Given the description of an element on the screen output the (x, y) to click on. 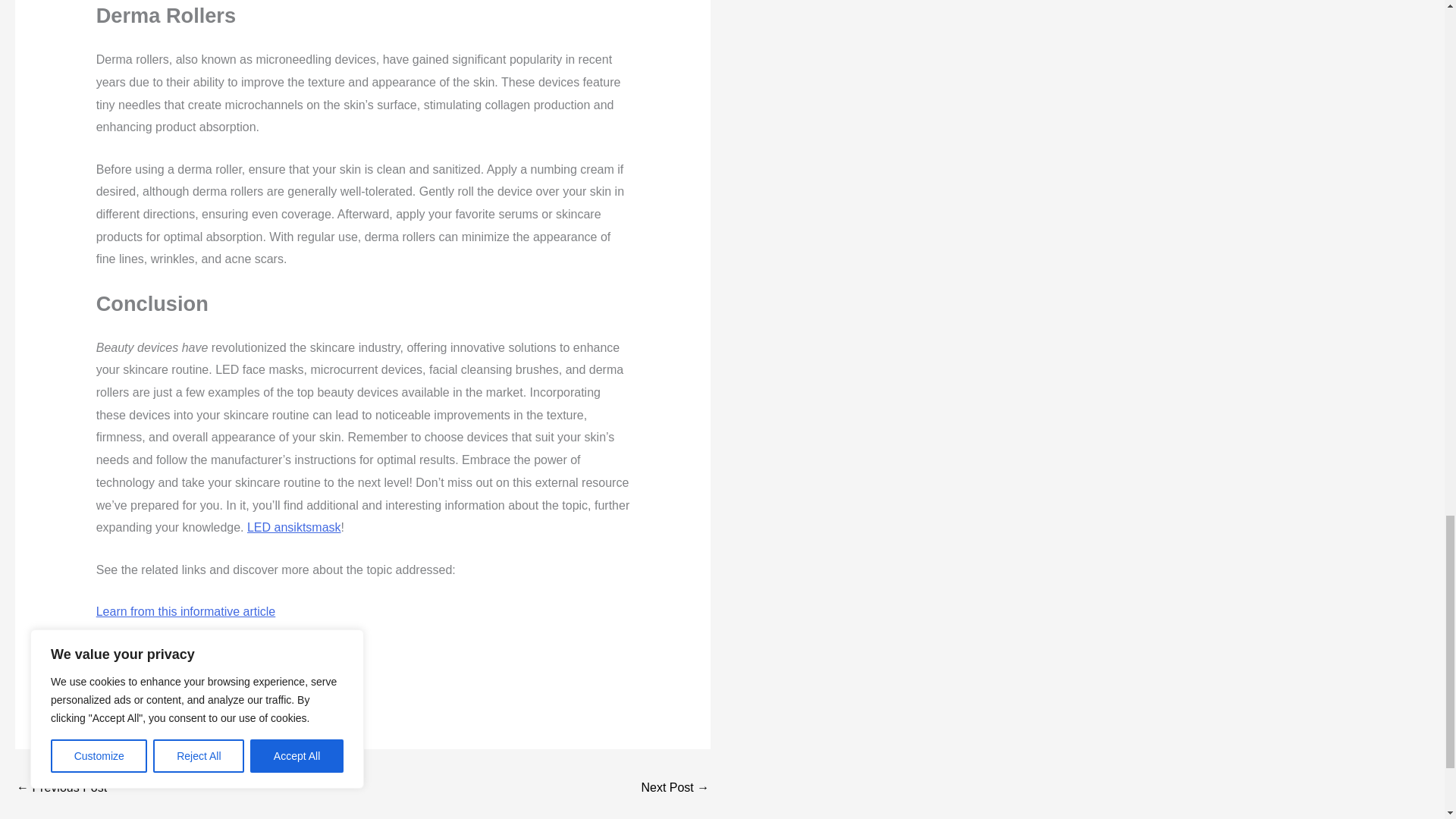
LED ansiktsmask (293, 526)
Investigate this in-depth content (181, 653)
The Importance of Privacy in Outdoor Spaces (674, 788)
Legal Actions Against Scam Gambling Websites (61, 788)
Learn from this informative article (186, 611)
